Given the description of an element on the screen output the (x, y) to click on. 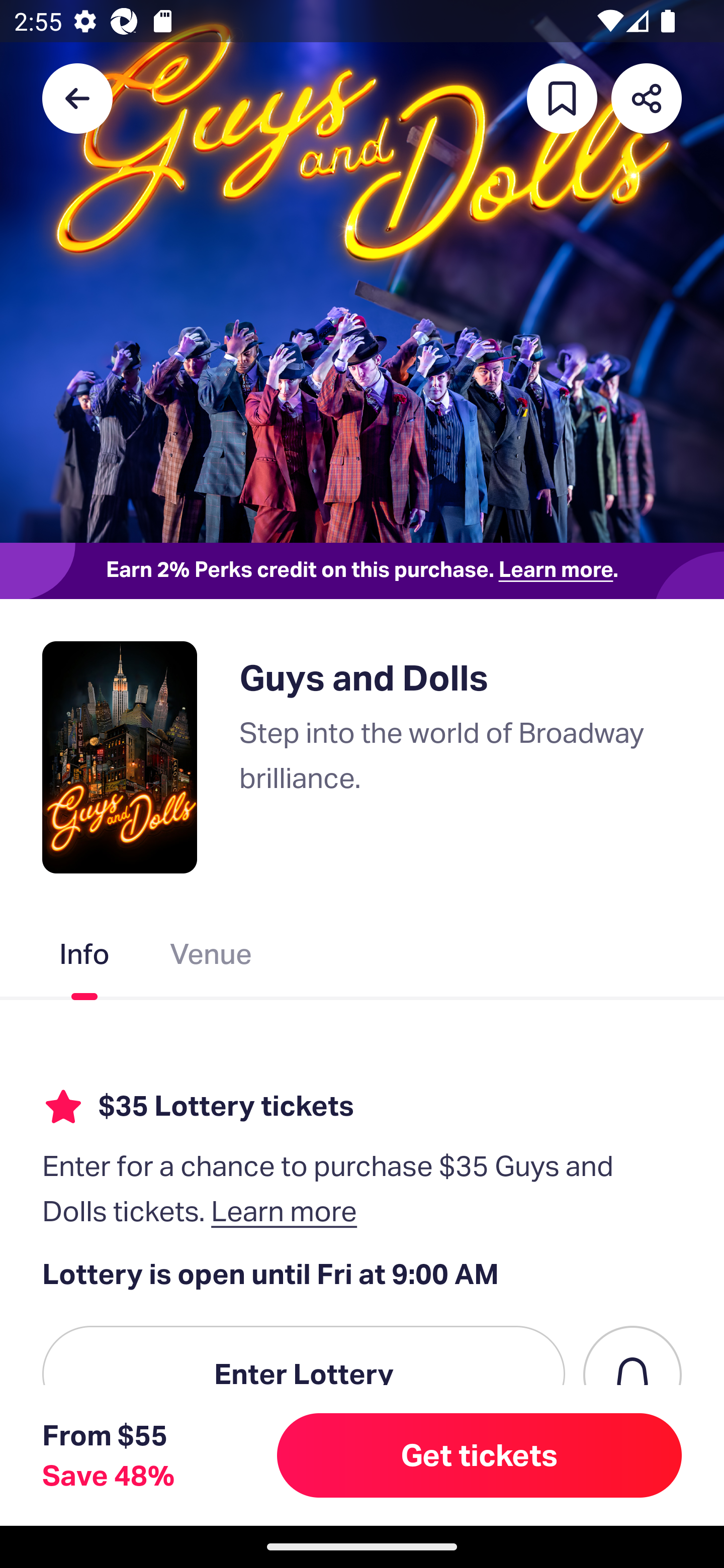
Earn 2% Perks credit on this purchase. Learn more. (362, 570)
Venue (210, 957)
Enter Lottery (303, 1374)
Get tickets (479, 1454)
